Given the description of an element on the screen output the (x, y) to click on. 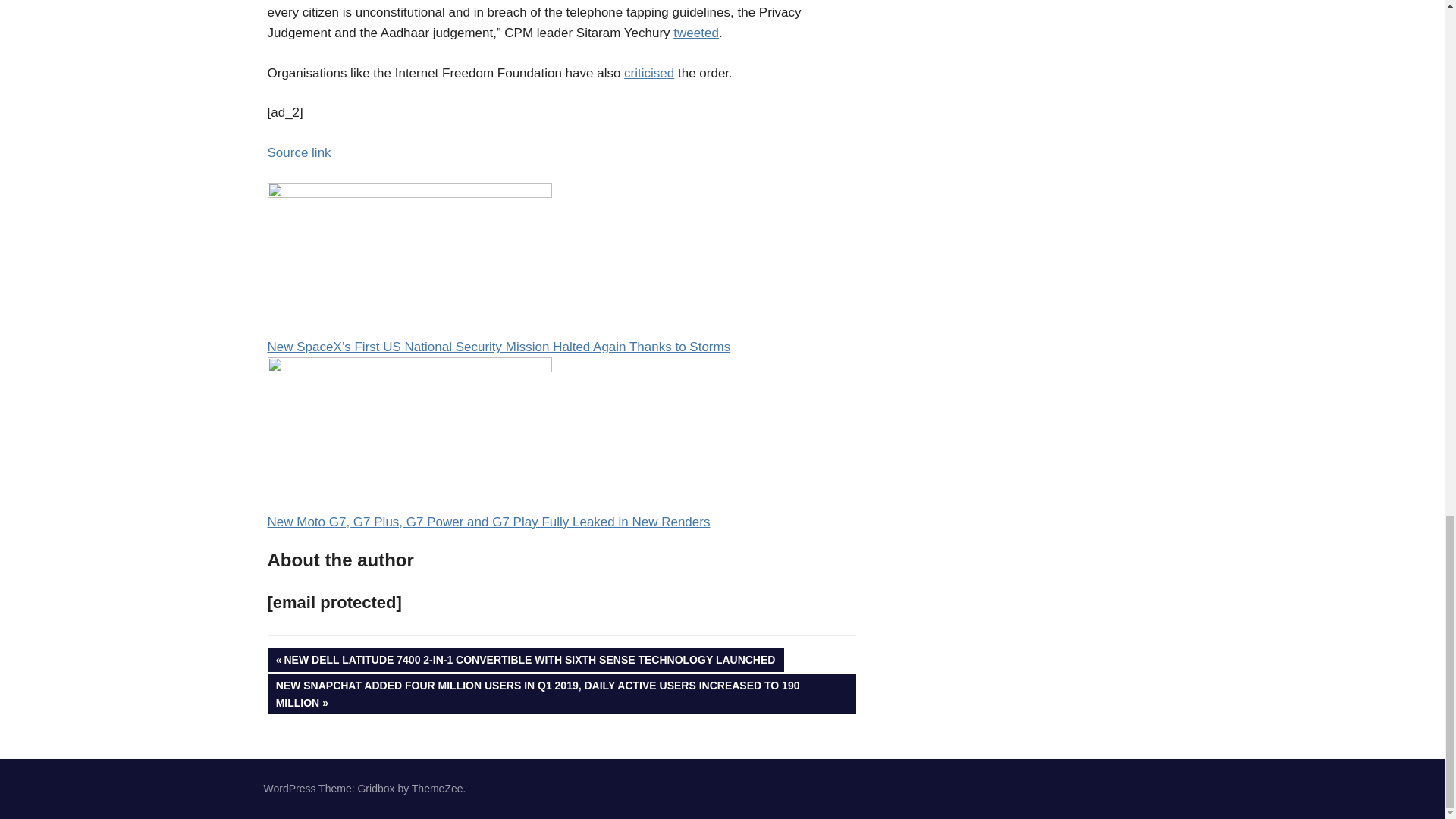
Source link (298, 152)
criticised (649, 73)
tweeted (695, 32)
